Given the description of an element on the screen output the (x, y) to click on. 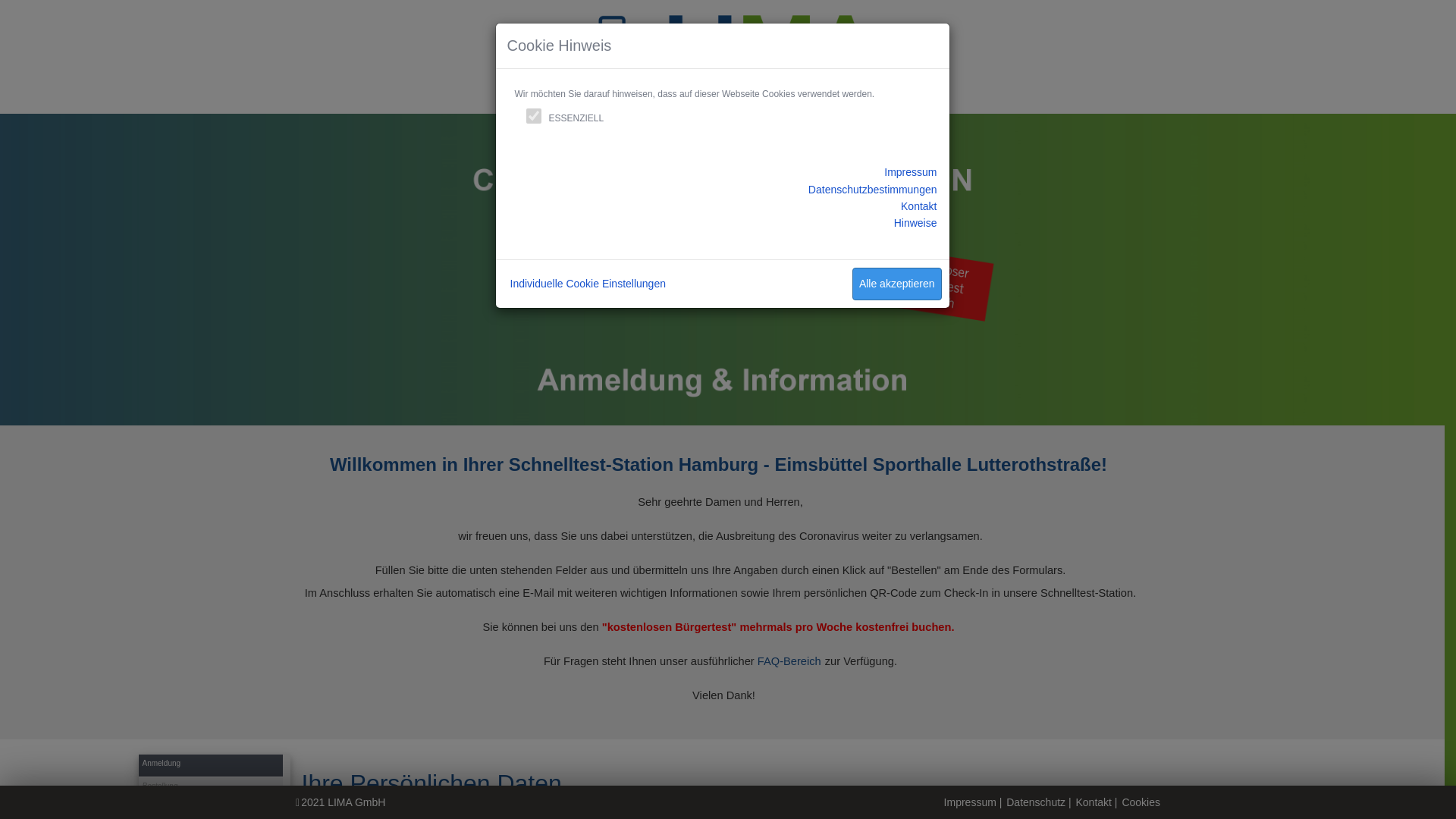
Kontakt Element type: text (918, 205)
FAQ-Bereich Element type: text (789, 661)
Datenschutzbestimmungen Element type: text (872, 189)
Kontakt Element type: text (1092, 802)
Impressum Element type: text (970, 802)
Hinweise Element type: text (915, 222)
2021 LIMA GmbH Element type: text (343, 802)
Impressum Element type: text (910, 171)
Datenschutz Element type: text (1035, 802)
Cookies Element type: text (1140, 802)
